Given the description of an element on the screen output the (x, y) to click on. 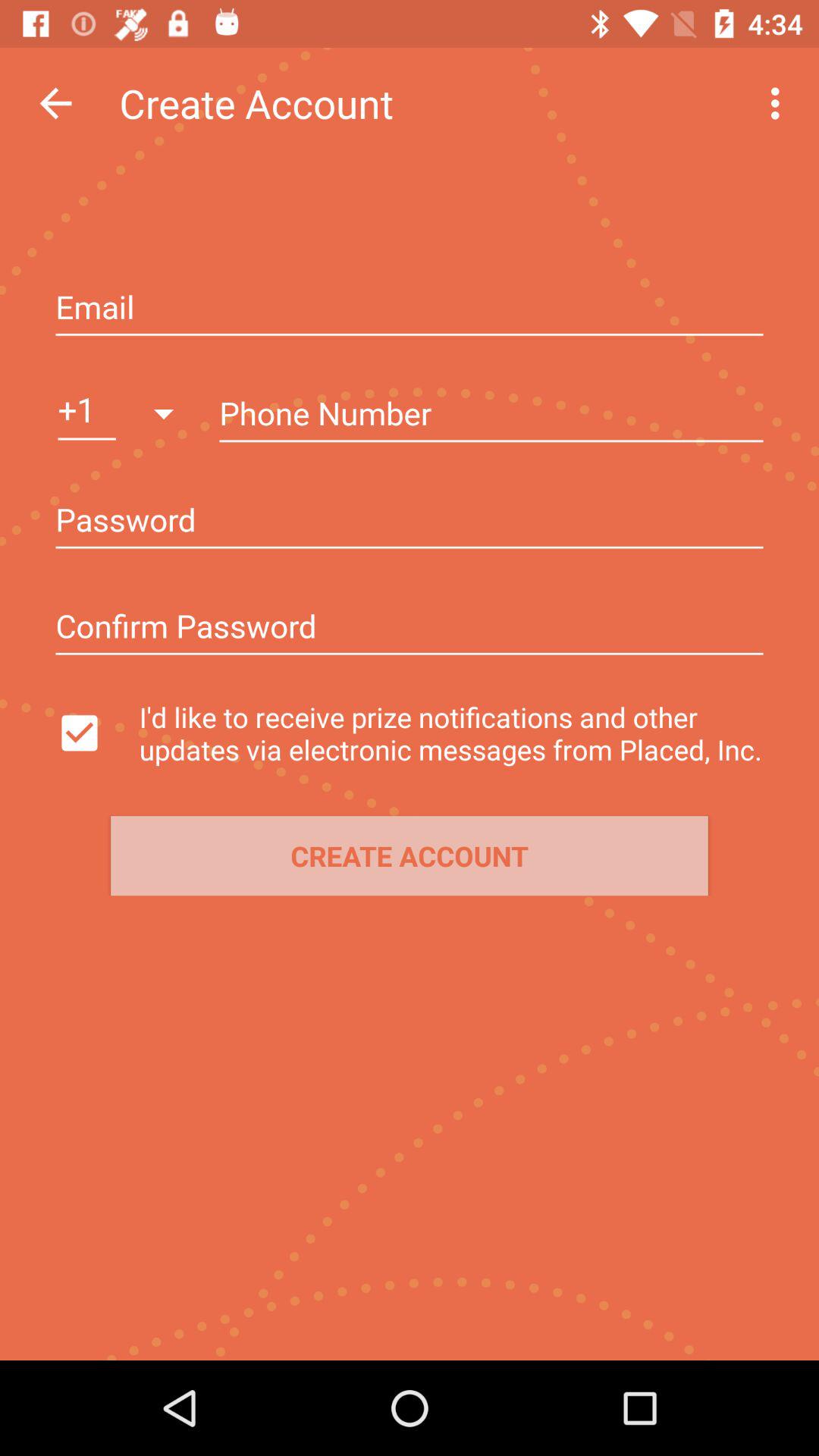
enter password (409, 627)
